Given the description of an element on the screen output the (x, y) to click on. 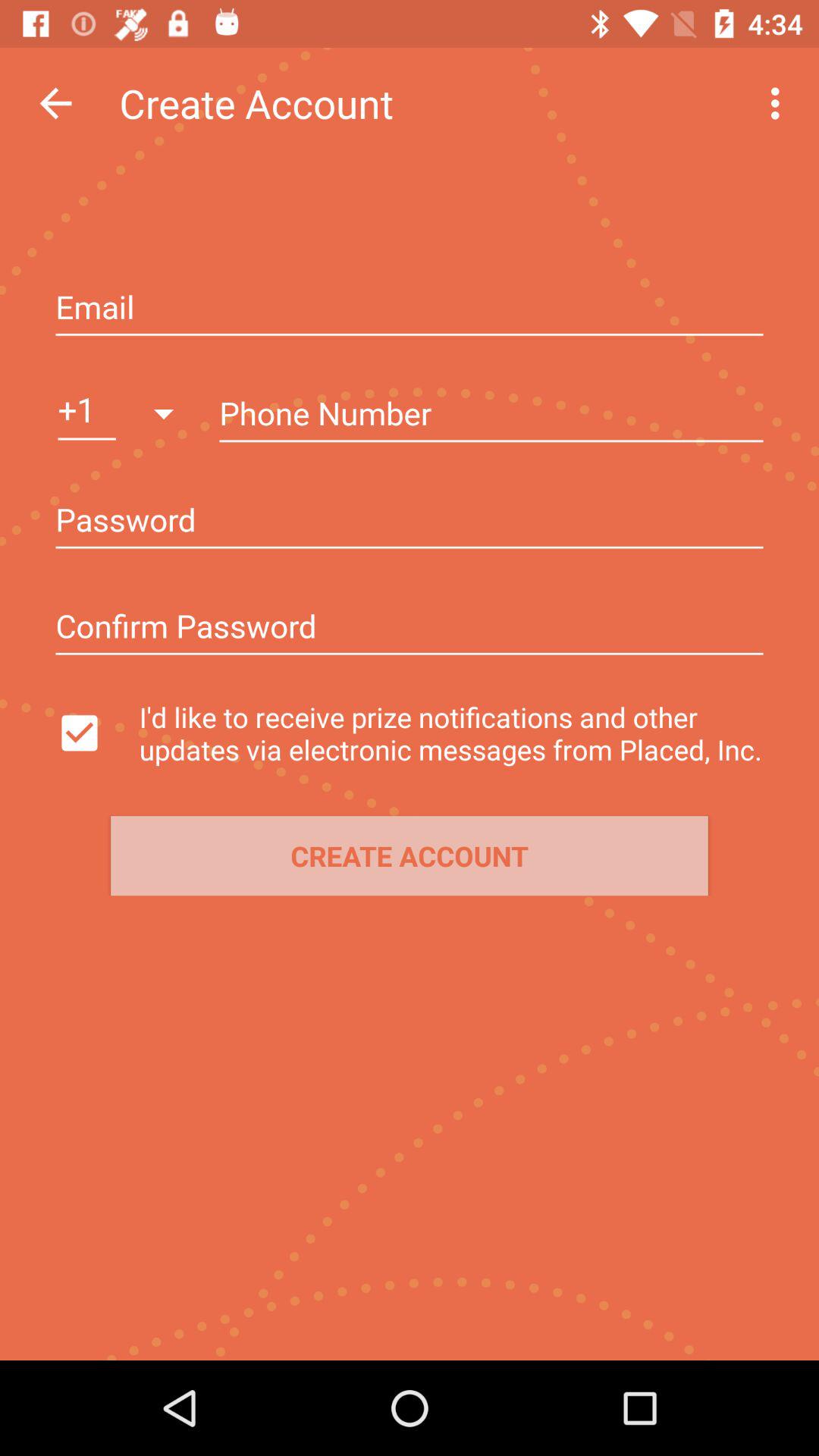
enter password (409, 627)
